Given the description of an element on the screen output the (x, y) to click on. 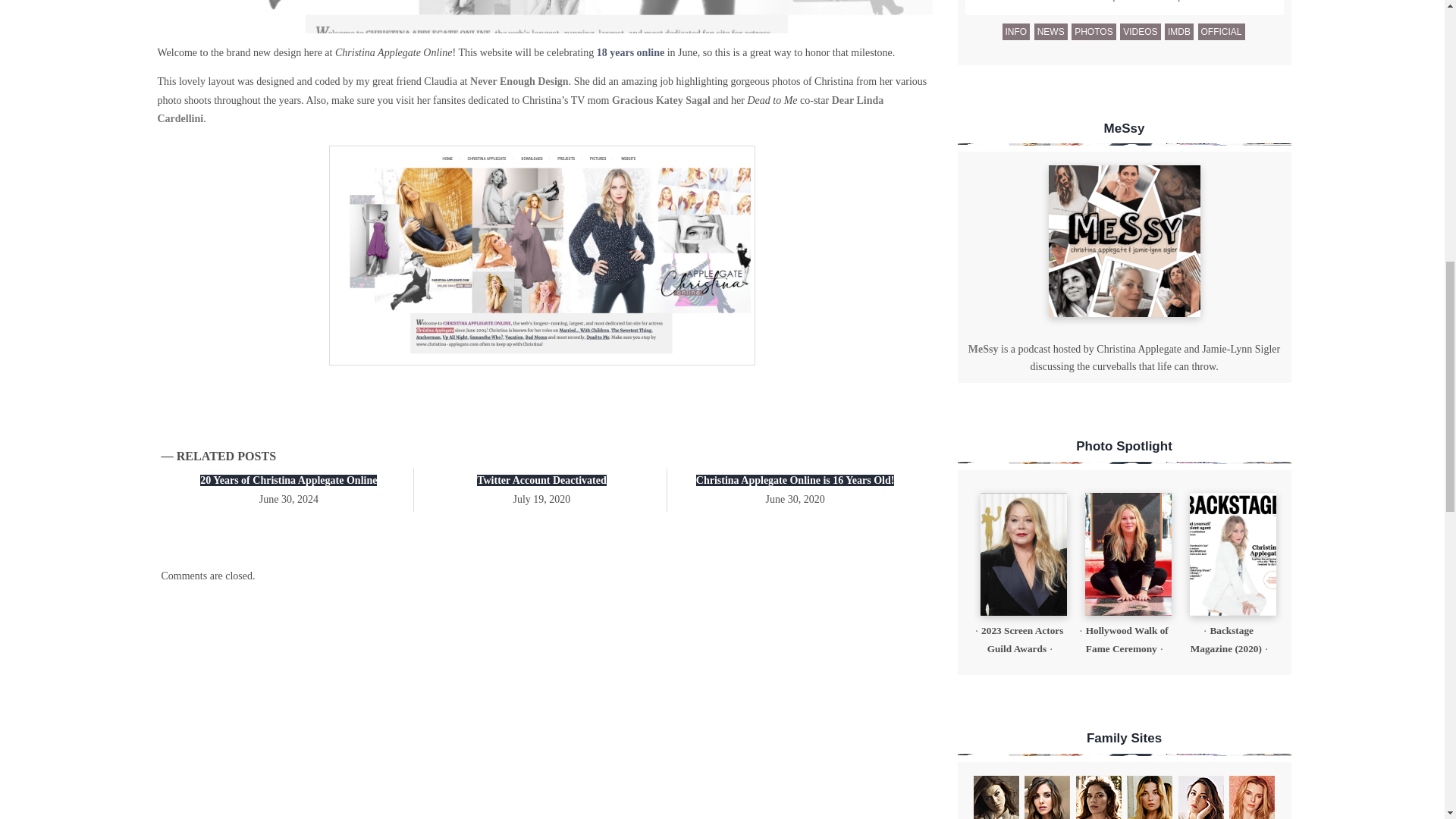
20 Years of Christina Applegate Online (288, 480)
IMDB (1178, 31)
MeSsy (1123, 240)
VIDEOS (1139, 31)
NEWS (1050, 31)
Christina Applegate Online is 16 Years Old! (795, 480)
MeSsy (983, 348)
OFFICIAL (1221, 31)
Twitter Account Deactivated (542, 480)
PHOTOS (1093, 31)
INFO (1016, 31)
